Given the description of an element on the screen output the (x, y) to click on. 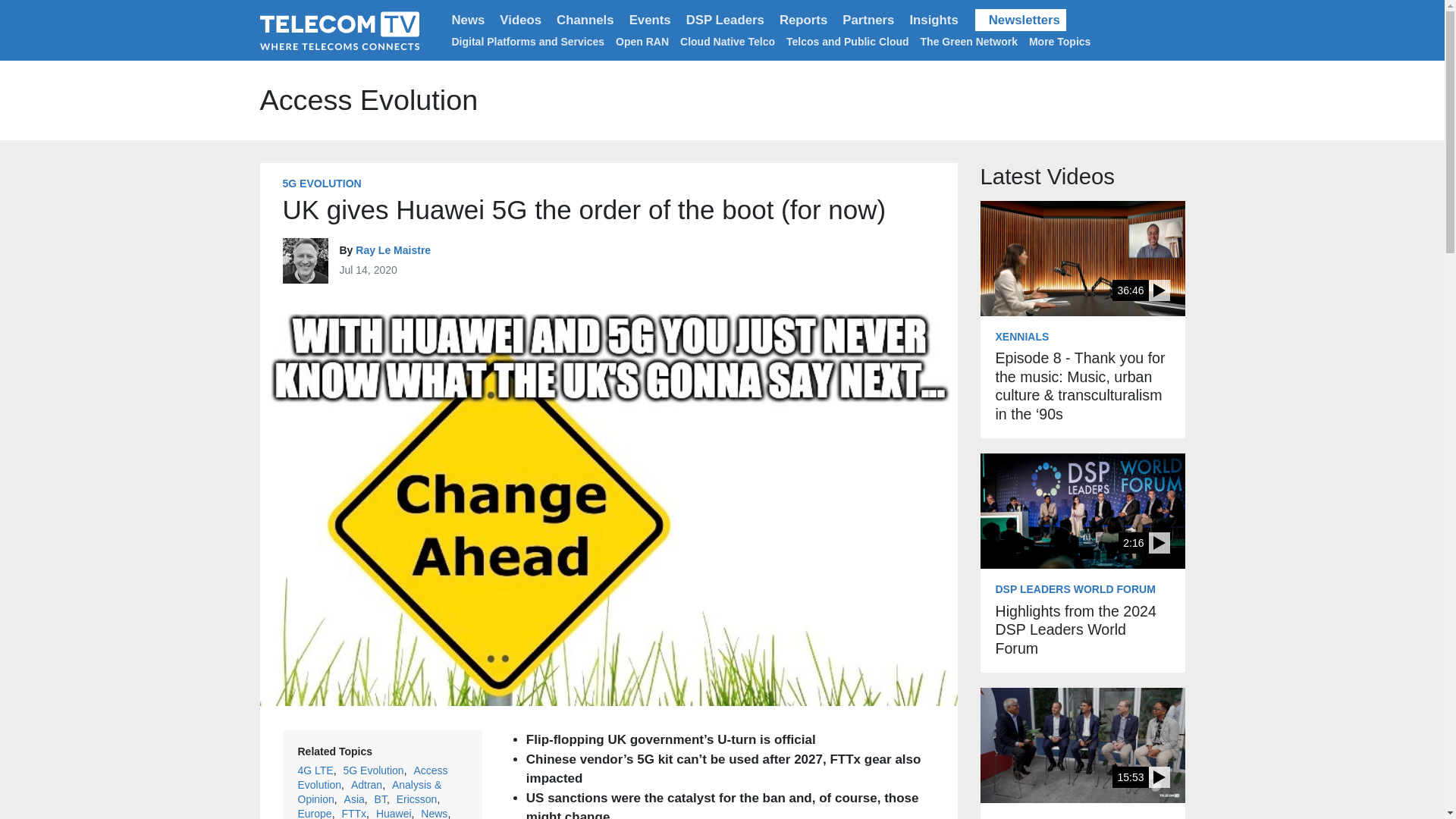
Channels (585, 20)
Reports (802, 20)
Videos (520, 20)
News (468, 20)
Open RAN (641, 41)
Insights (932, 20)
Partners (867, 20)
DSP Leaders (724, 20)
Digital Platforms and Services (528, 41)
Newsletters (1020, 20)
More Topics (1062, 41)
The Green Network (968, 41)
Cloud Native Telco (726, 41)
Telcos and Public Cloud (847, 41)
Events (650, 20)
